Given the description of an element on the screen output the (x, y) to click on. 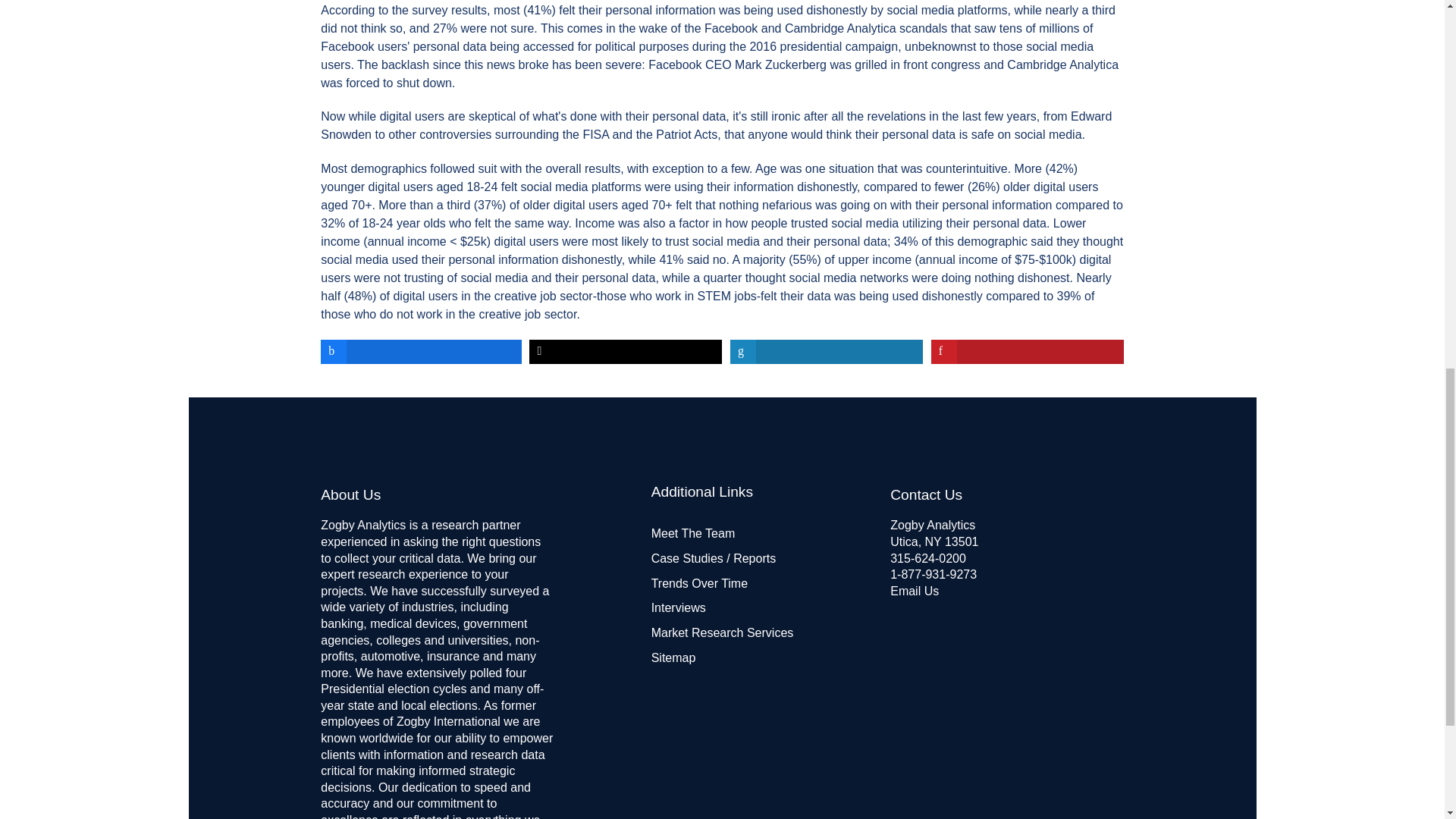
Meet The Team (692, 533)
Meet The Team (692, 533)
Sitemap (672, 657)
Market Research Services (721, 632)
Interviews (678, 607)
Trends Over Time (699, 583)
Sitemap (672, 657)
Market Research Services (721, 632)
Interviews (678, 607)
Email Us (914, 590)
